Given the description of an element on the screen output the (x, y) to click on. 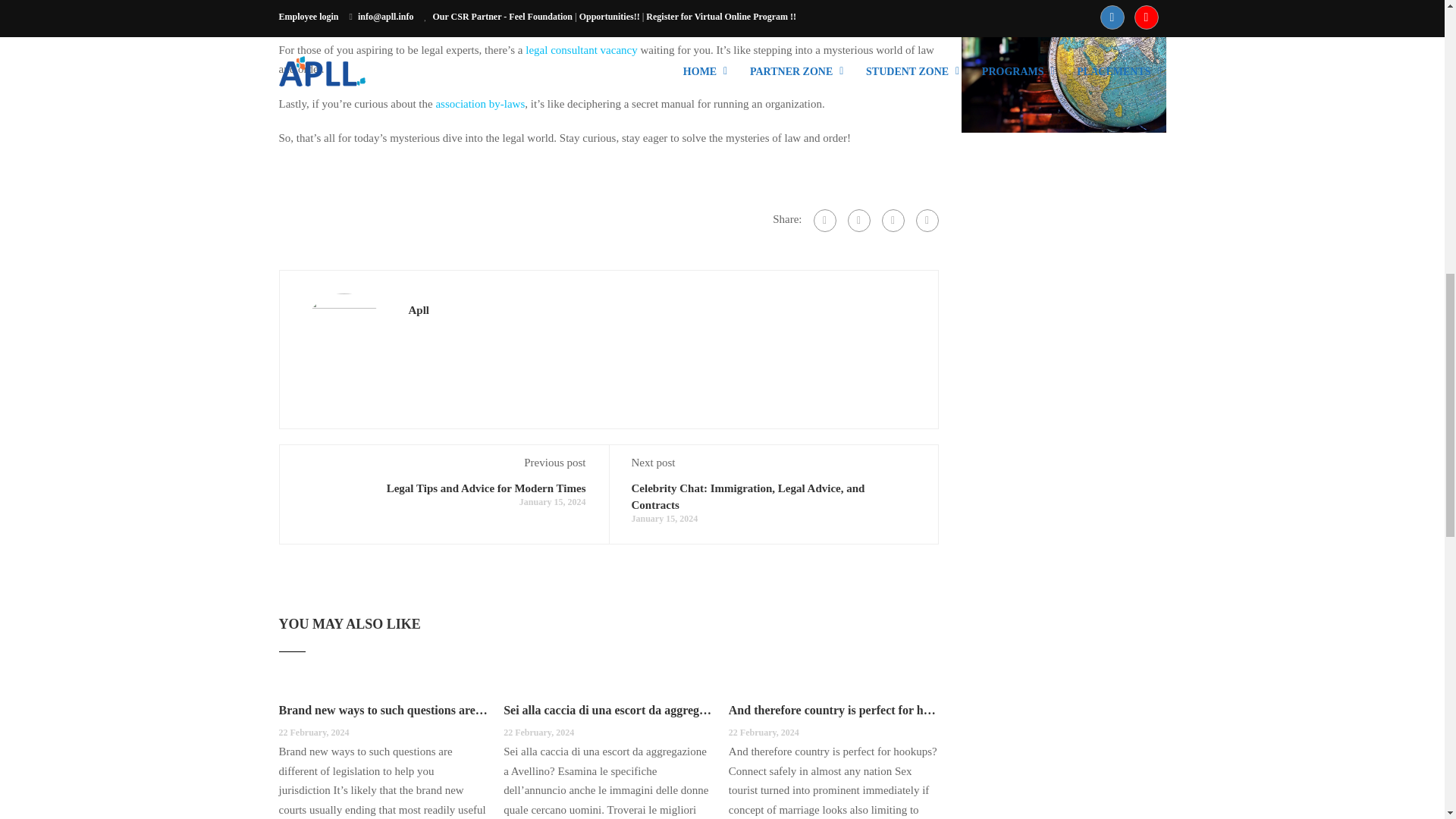
Facebook (823, 220)
Google Plus (858, 220)
Pinterest (927, 220)
Twitter (892, 220)
Sei alla caccia di una escort da aggregazione a Avellino? (608, 710)
